Given the description of an element on the screen output the (x, y) to click on. 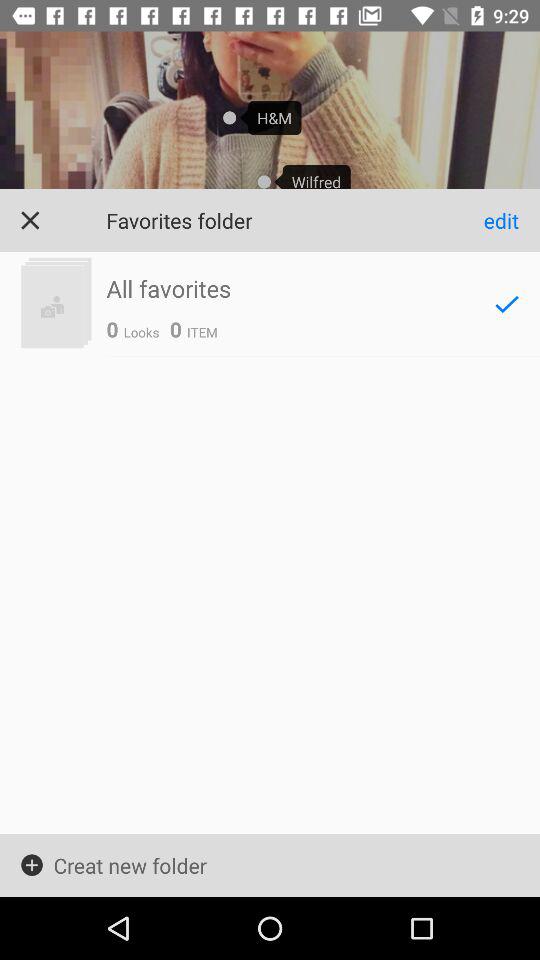
click on the edit option (511, 220)
